Given the description of an element on the screen output the (x, y) to click on. 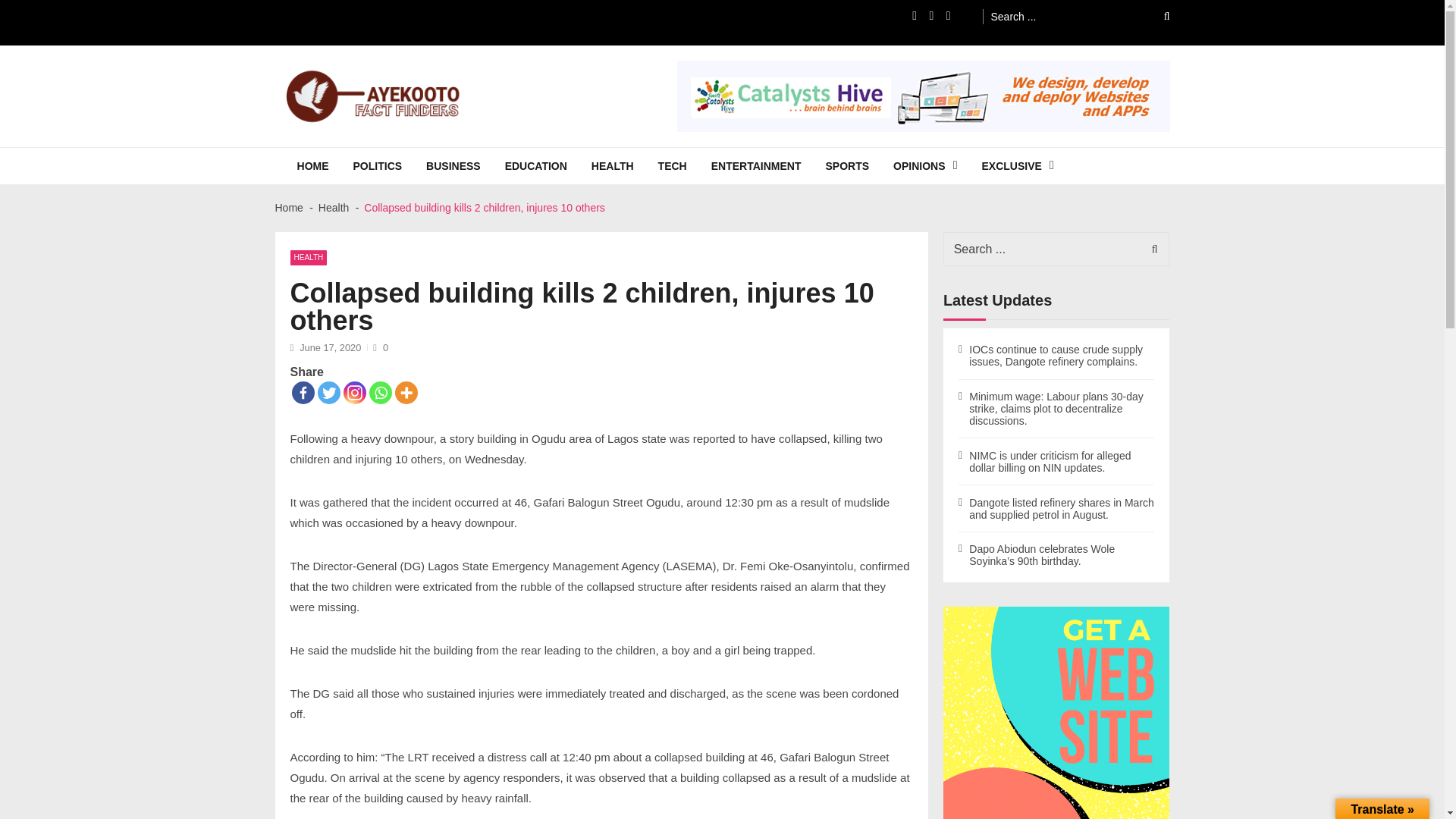
Instagram (353, 392)
Search (1156, 15)
Collapsed building kills 2 children, injures 10 others (1056, 712)
Twitter (328, 392)
More (405, 392)
Search (1150, 248)
Search (1156, 15)
Whatsapp (379, 392)
Facebook (302, 392)
Collapsed building kills 2 children, injures 10 others (923, 95)
Search (1150, 248)
